Given the description of an element on the screen output the (x, y) to click on. 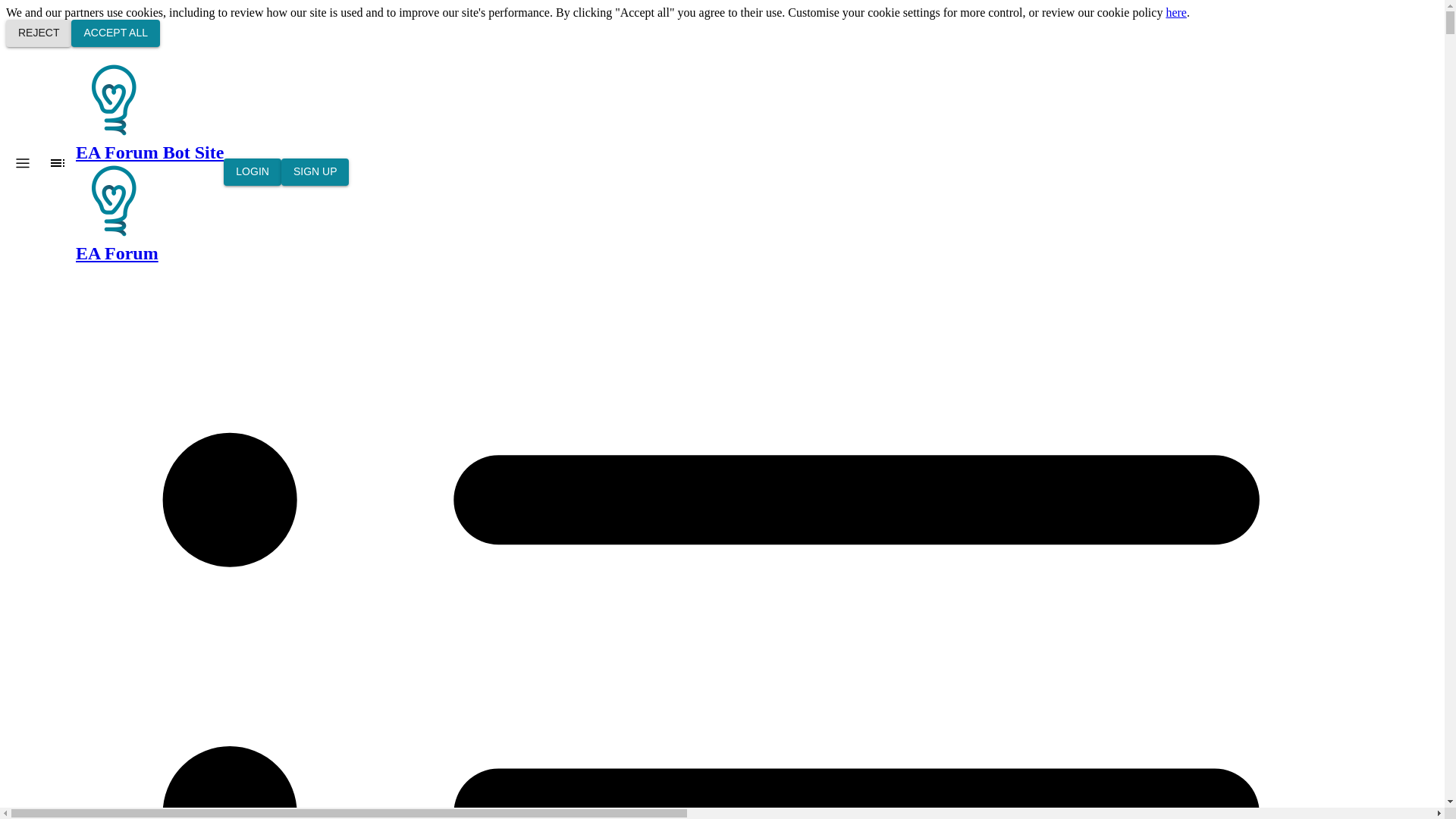
REJECT (38, 32)
LOGIN (252, 171)
SIGN UP (315, 171)
EA Forum Bot Site (113, 100)
cookie settings (903, 11)
EA Forum (149, 212)
ACCEPT ALL (115, 32)
EA Forum Bot Site (113, 200)
here (1176, 11)
EA Forum Bot Site (149, 112)
